Given the description of an element on the screen output the (x, y) to click on. 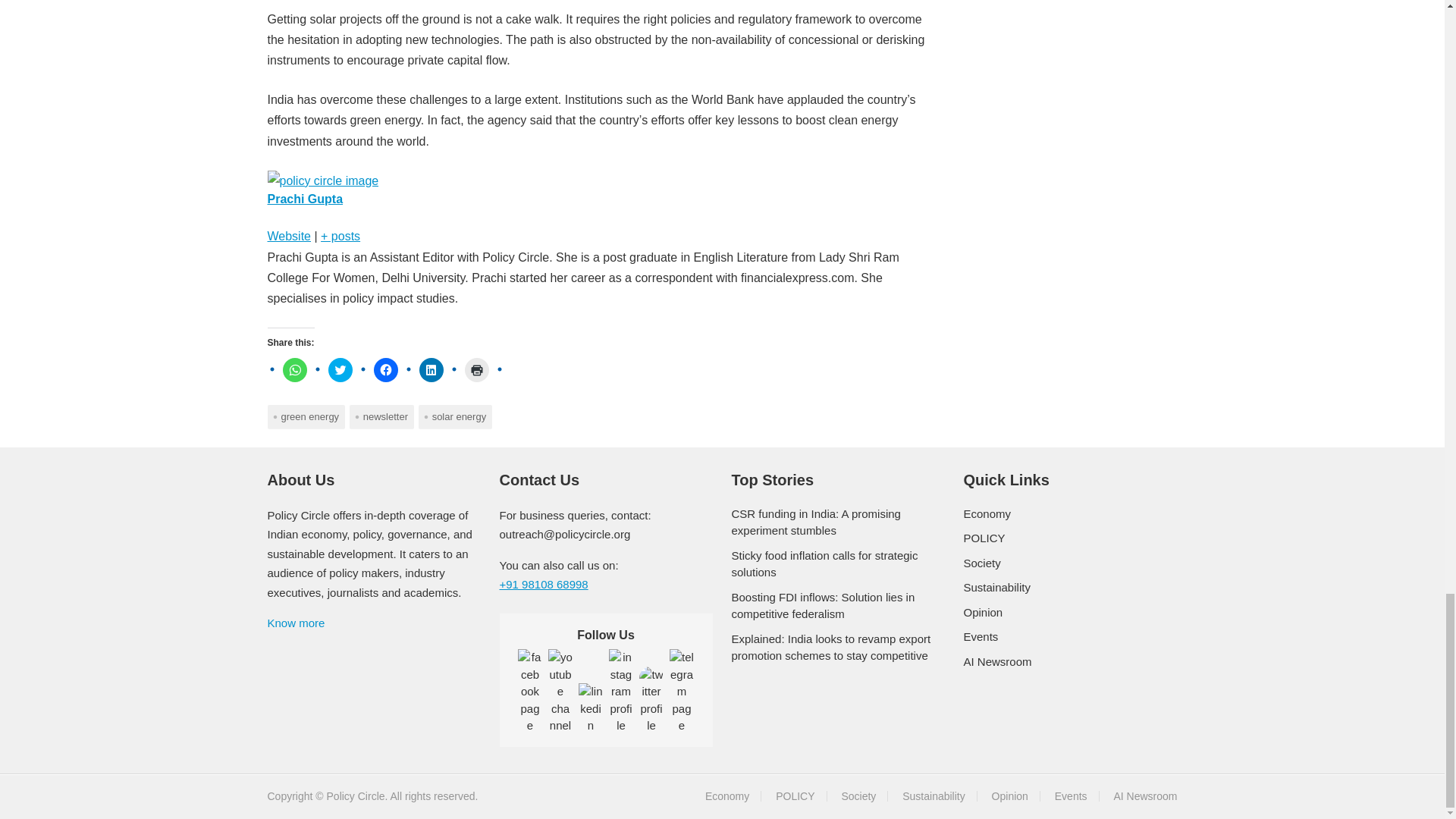
Click to share on Twitter (339, 369)
Click to share on Facebook (384, 369)
Click to print (475, 369)
Click to share on LinkedIn (430, 369)
Click to share on WhatsApp (293, 369)
